Given the description of an element on the screen output the (x, y) to click on. 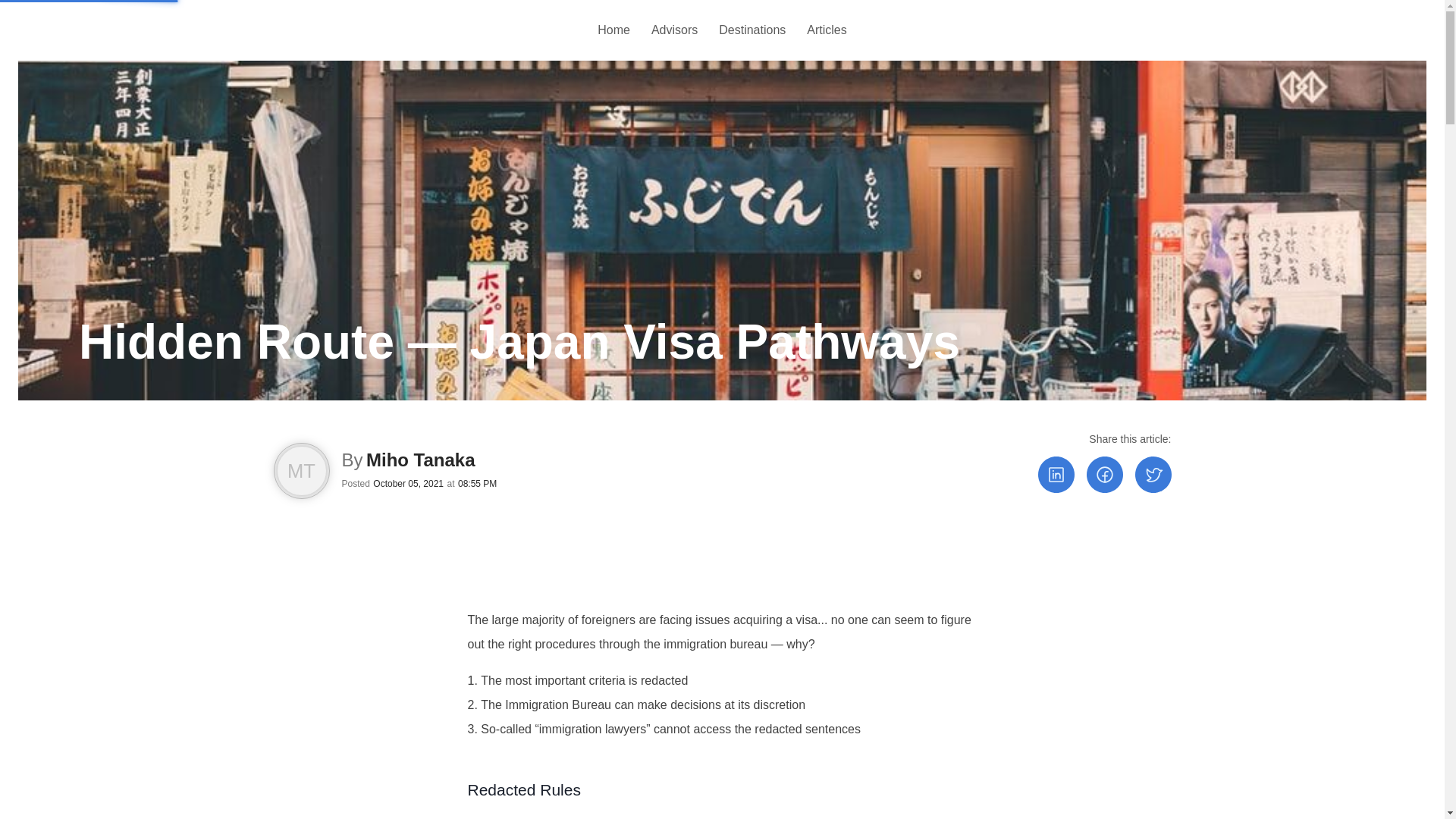
Destinations (752, 29)
Miho Tanaka (421, 460)
Advisors (673, 29)
Articles (826, 29)
Home (613, 29)
